Given the description of an element on the screen output the (x, y) to click on. 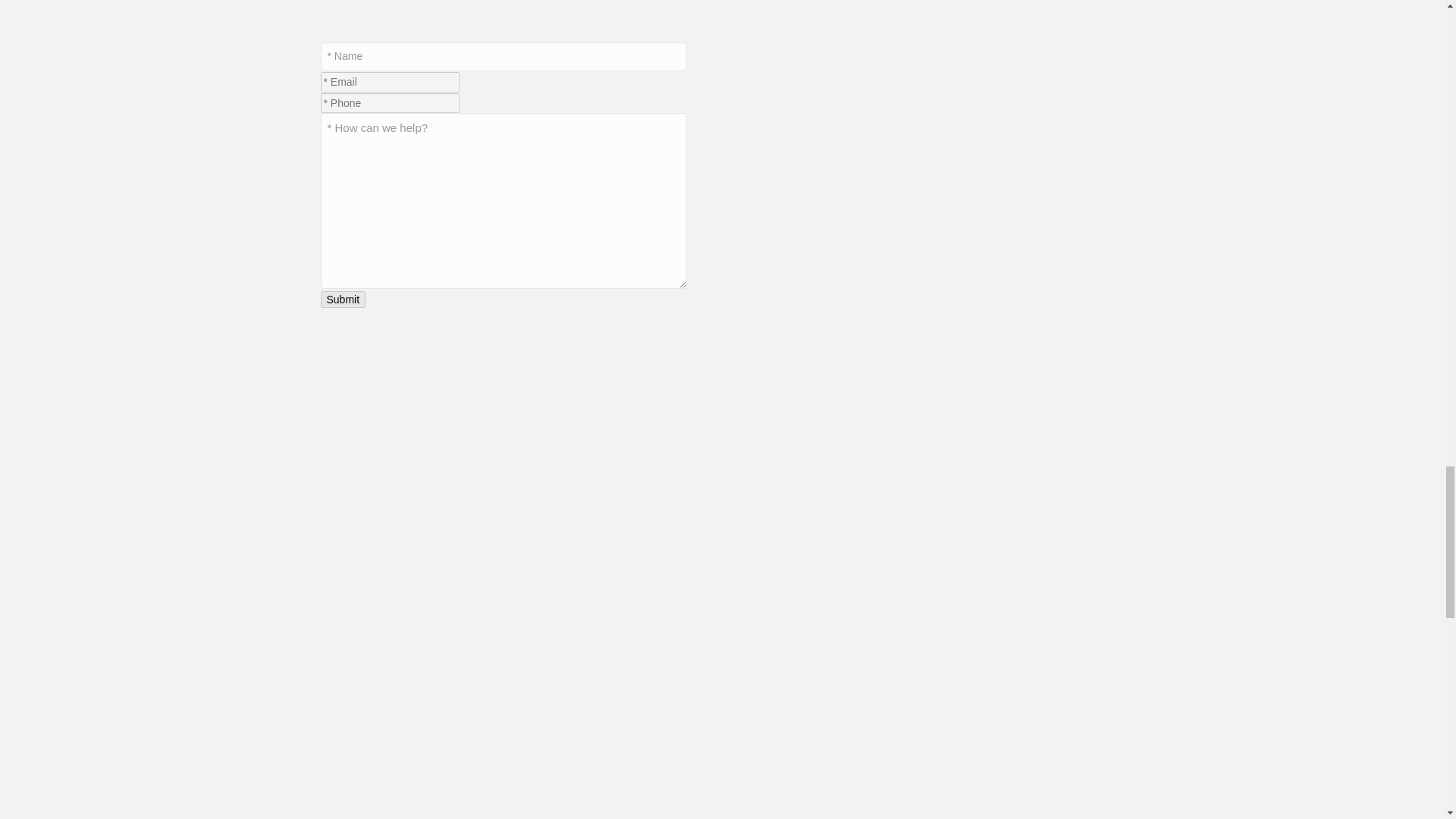
Submit (342, 299)
